Given the description of an element on the screen output the (x, y) to click on. 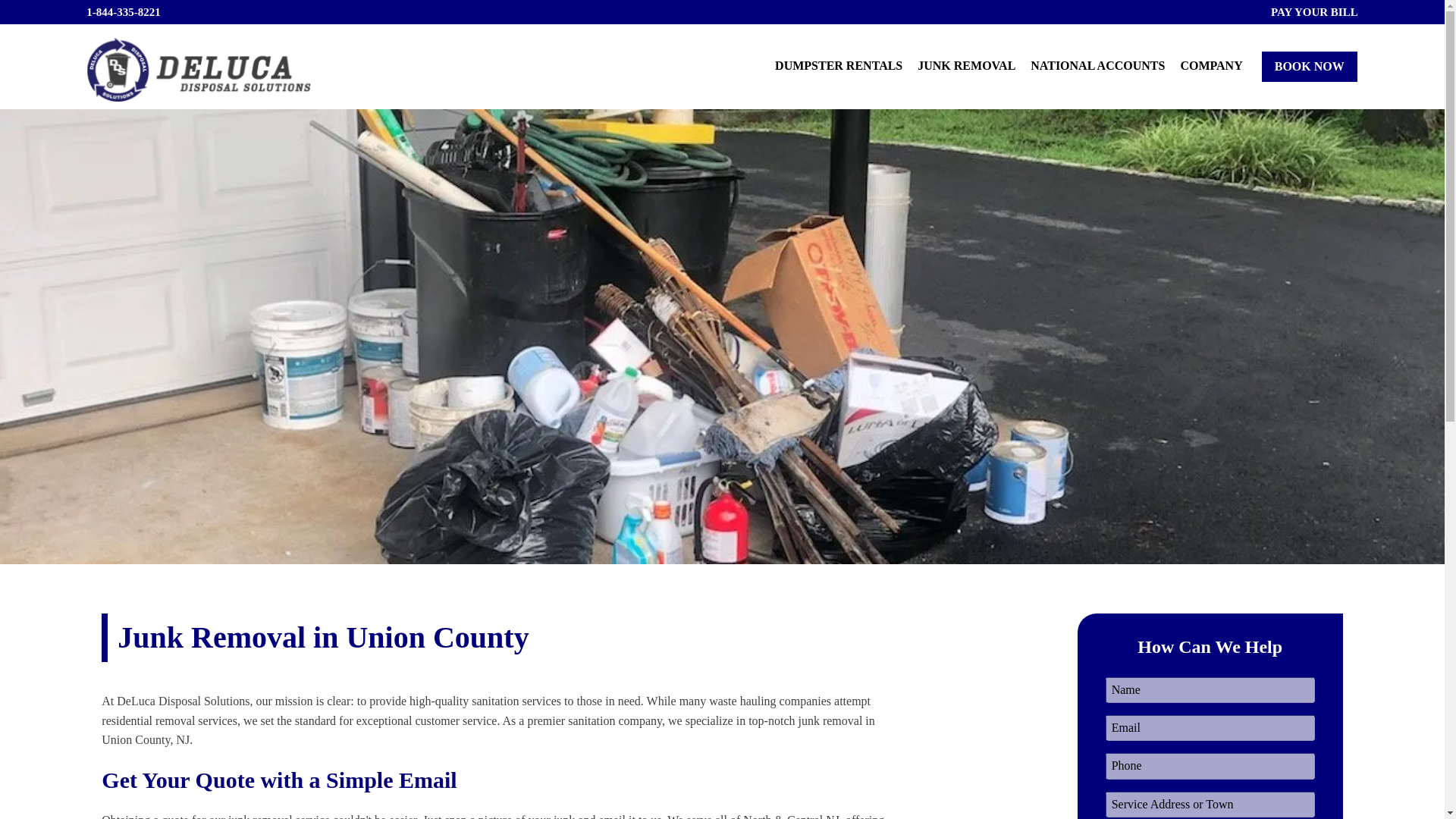
1-844-335-8221 (122, 12)
BOOK NOW (1309, 66)
DUMPSTER RENTALS (838, 66)
NATIONAL ACCOUNTS (1097, 66)
COMPANY (1210, 66)
JUNK REMOVAL (966, 66)
